Given the description of an element on the screen output the (x, y) to click on. 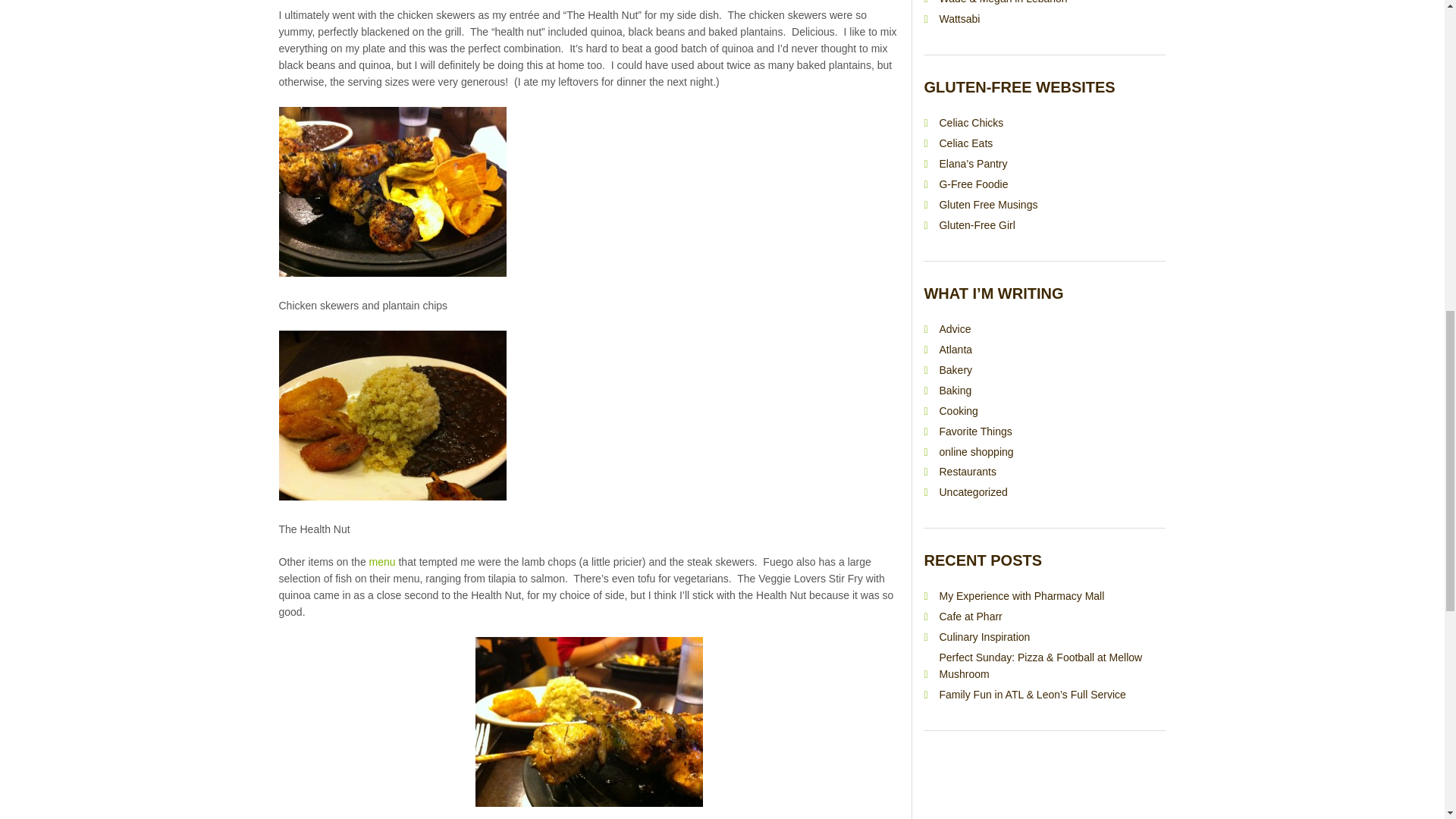
Favorite Things (975, 431)
Restaurants (967, 471)
Bakery (955, 369)
Gluten-Free Girl (976, 224)
online shopping (976, 451)
Gluten Free Musings (987, 204)
Atlanta (955, 349)
menu (382, 562)
Celiac Eats (965, 143)
Celiac Chicks (971, 122)
Advice (955, 328)
Baking (955, 390)
G-Free Foodie (973, 184)
Cooking (957, 410)
Wattsabi (959, 19)
